Given the description of an element on the screen output the (x, y) to click on. 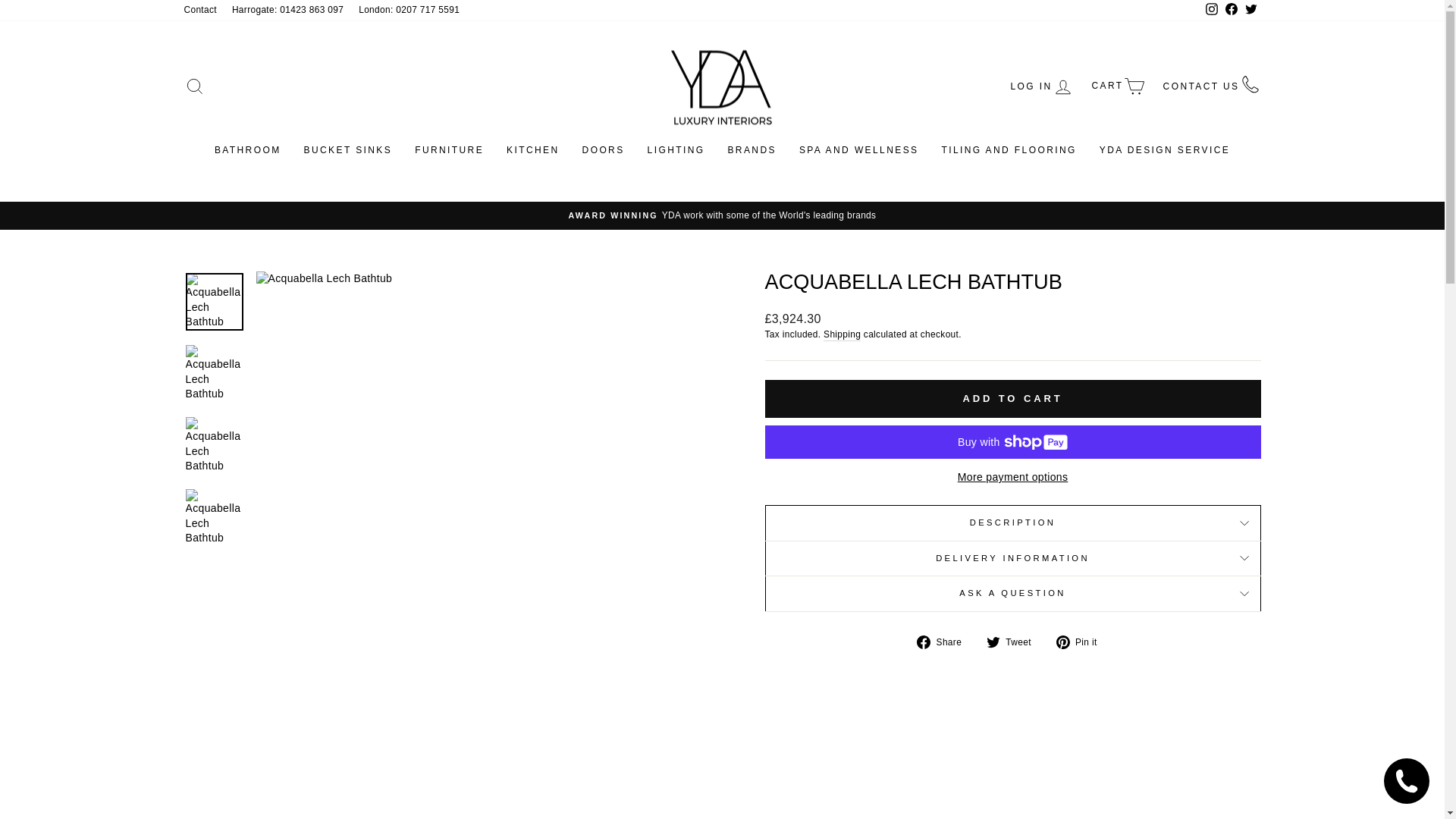
Share on Facebook (944, 642)
Yorkshire Design Associates on Facebook (1230, 10)
Yorkshire Design Associates on Twitter (1250, 10)
Pin on Pinterest (1082, 642)
Tweet on Twitter (1014, 642)
Yorkshire Design Associates on Instagram (1211, 10)
